Given the description of an element on the screen output the (x, y) to click on. 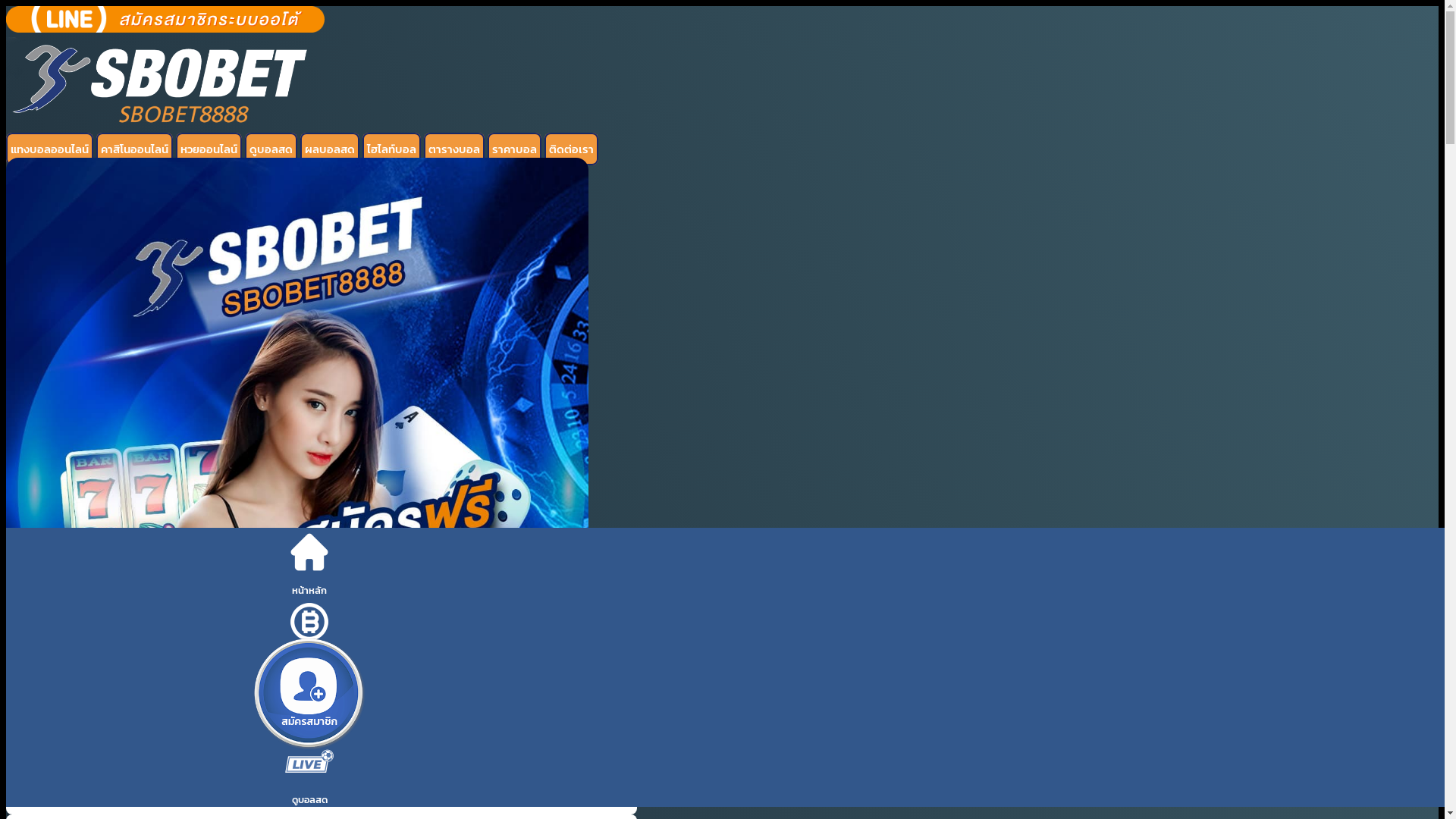
Sbobet8888-fixed-soccer Element type: hover (309, 691)
Sbobet8888-line-register Element type: hover (165, 19)
Sbobet8888-fixed-register Element type: hover (309, 693)
Sbobet8888-fixed-deposit-withdraw Element type: hover (309, 621)
Sbobet8888-logo Element type: hover (165, 85)
Sbobet8888-fixed-home Element type: hover (309, 551)
Sbobet8888-fixed-live Element type: hover (309, 761)
